Given the description of an element on the screen output the (x, y) to click on. 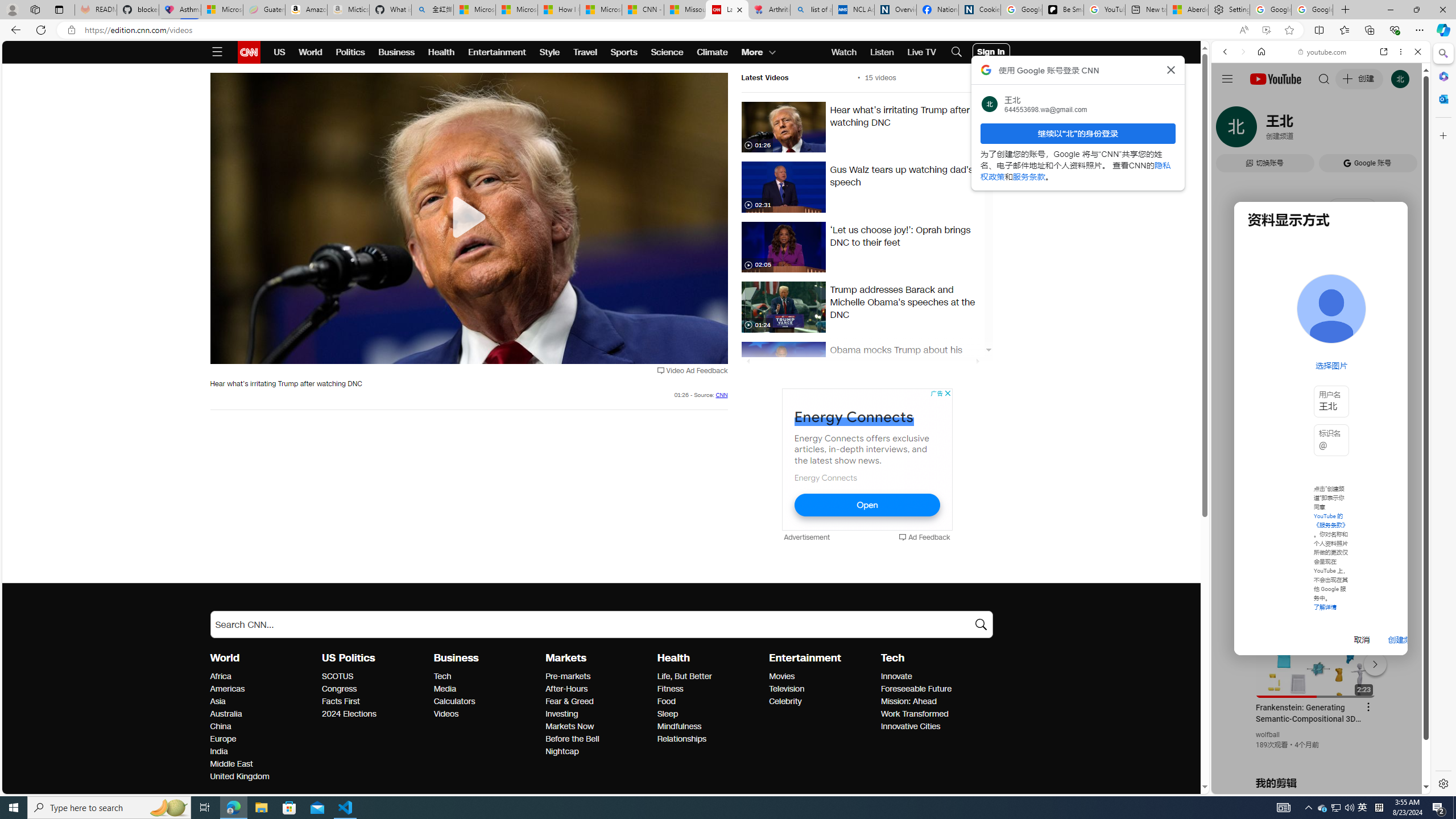
youtube.com (1322, 51)
Google (1320, 281)
Health Life, But Better (683, 676)
Tech Mission: Ahead (908, 701)
